Given the description of an element on the screen output the (x, y) to click on. 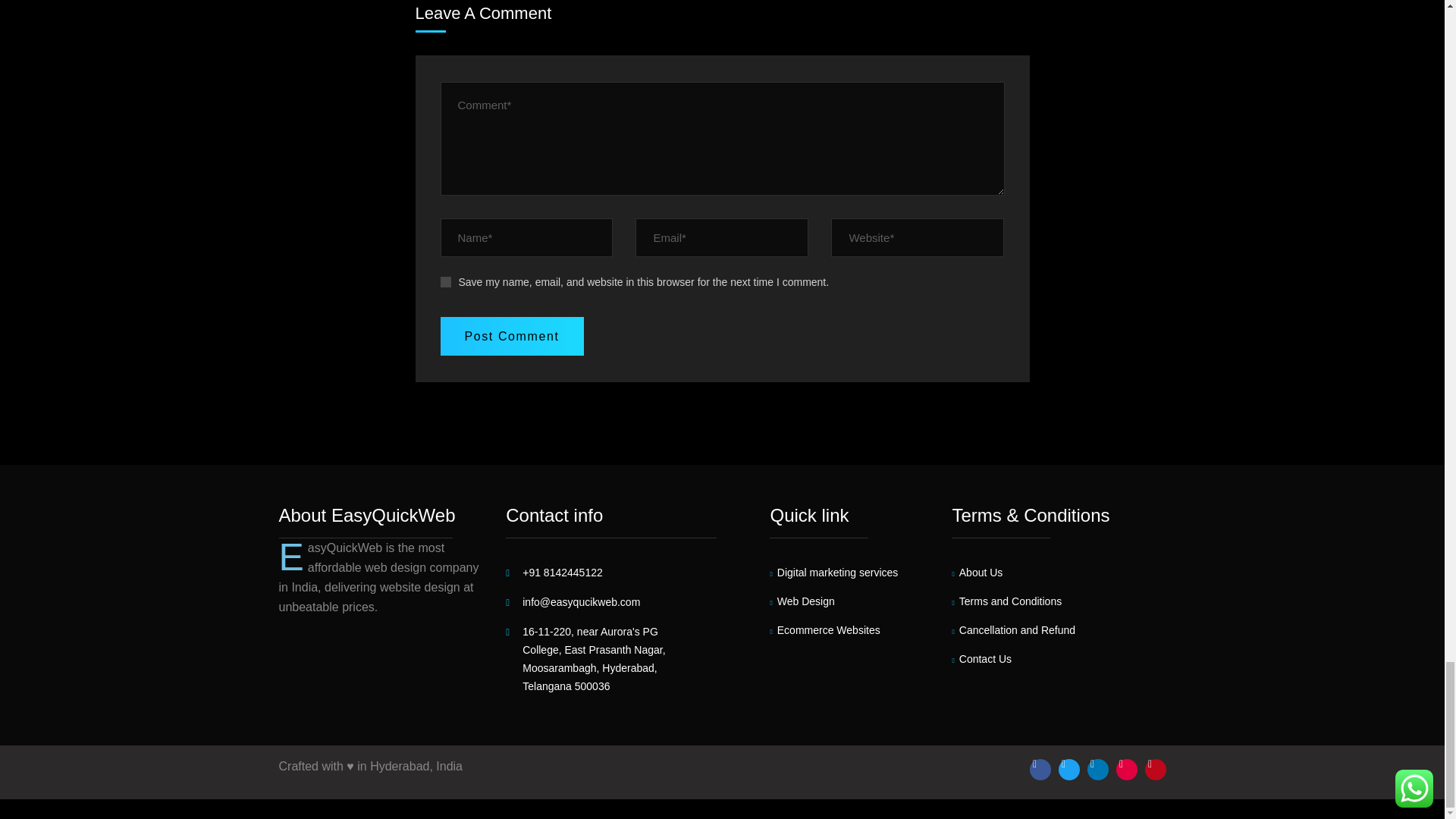
Cancellation and Refund (1013, 630)
Web Design (802, 601)
Terms and Conditions (1006, 601)
Ecommerce Websites (824, 630)
Post Comment (511, 335)
Digital marketing services (834, 572)
About Us (977, 572)
Contact Us (981, 659)
Post Comment (511, 335)
